Given the description of an element on the screen output the (x, y) to click on. 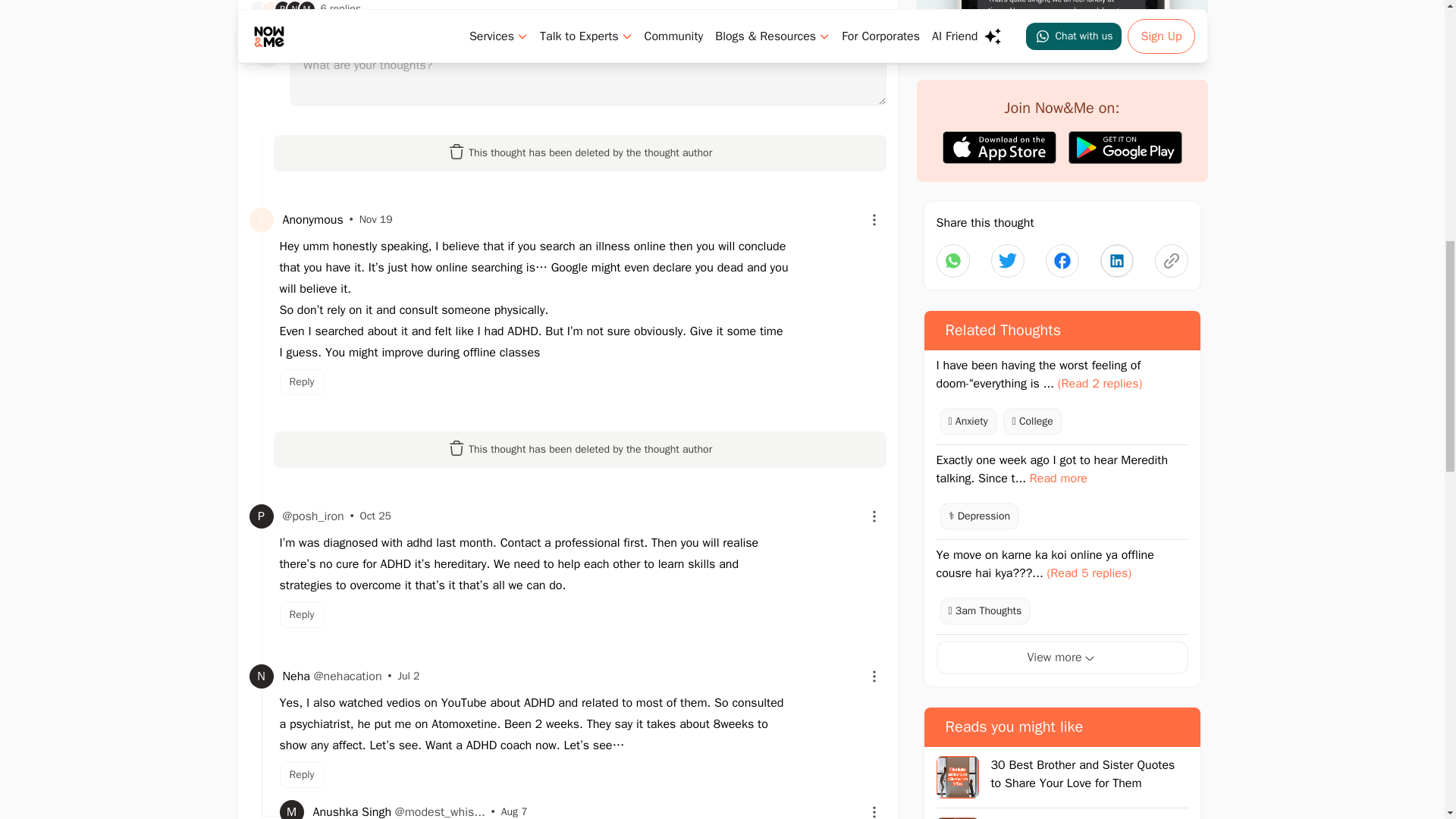
Share on Twitter (1006, 260)
Share on Twitter (1115, 260)
Share on Twitter (1061, 260)
Share on WhatsApp (952, 260)
